Given the description of an element on the screen output the (x, y) to click on. 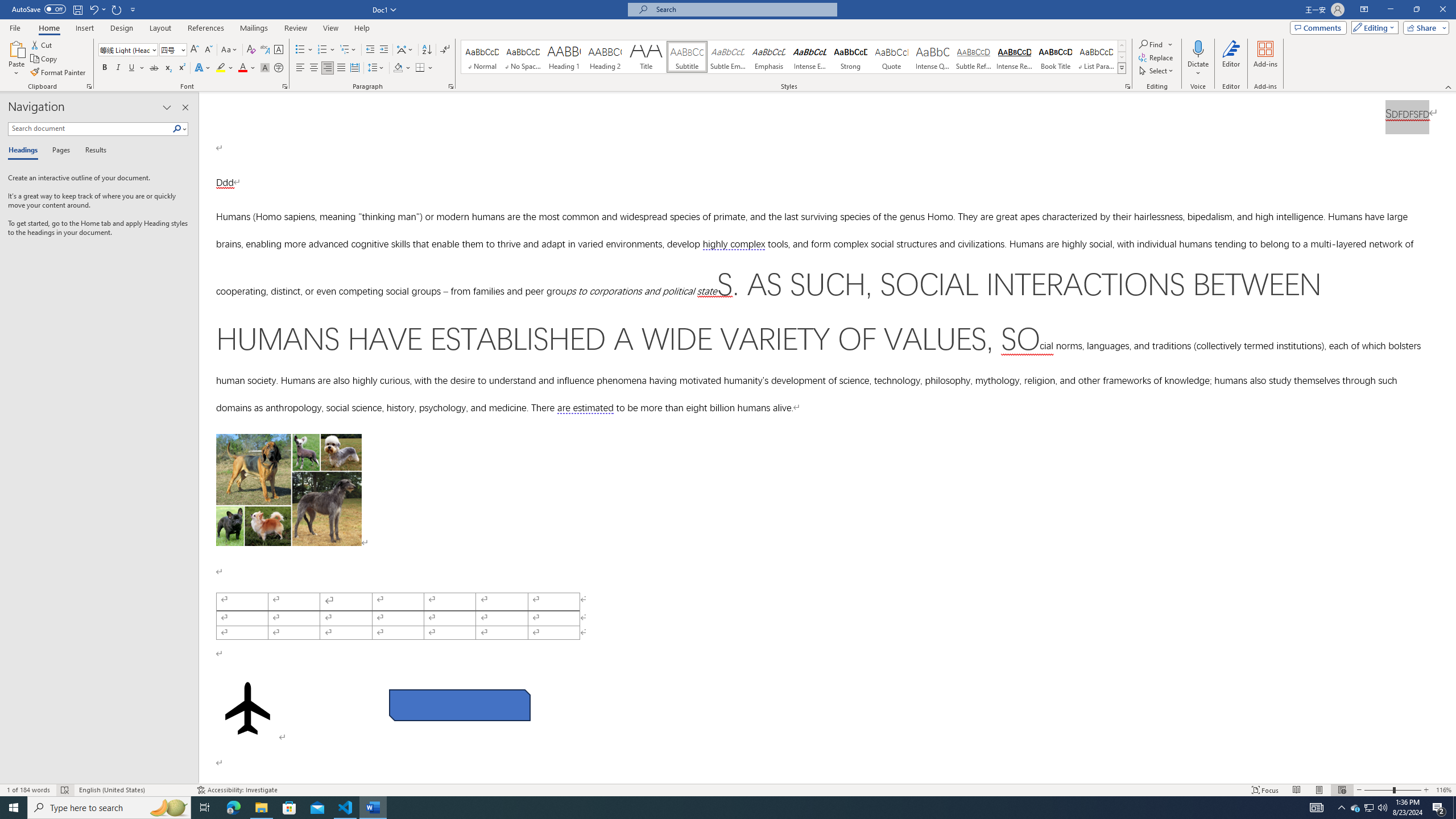
Align Left (300, 67)
Subtle Reference (973, 56)
Asian Layout (405, 49)
Styles... (1127, 85)
Copy (45, 58)
Strikethrough (154, 67)
Subtitle (686, 56)
